Given the description of an element on the screen output the (x, y) to click on. 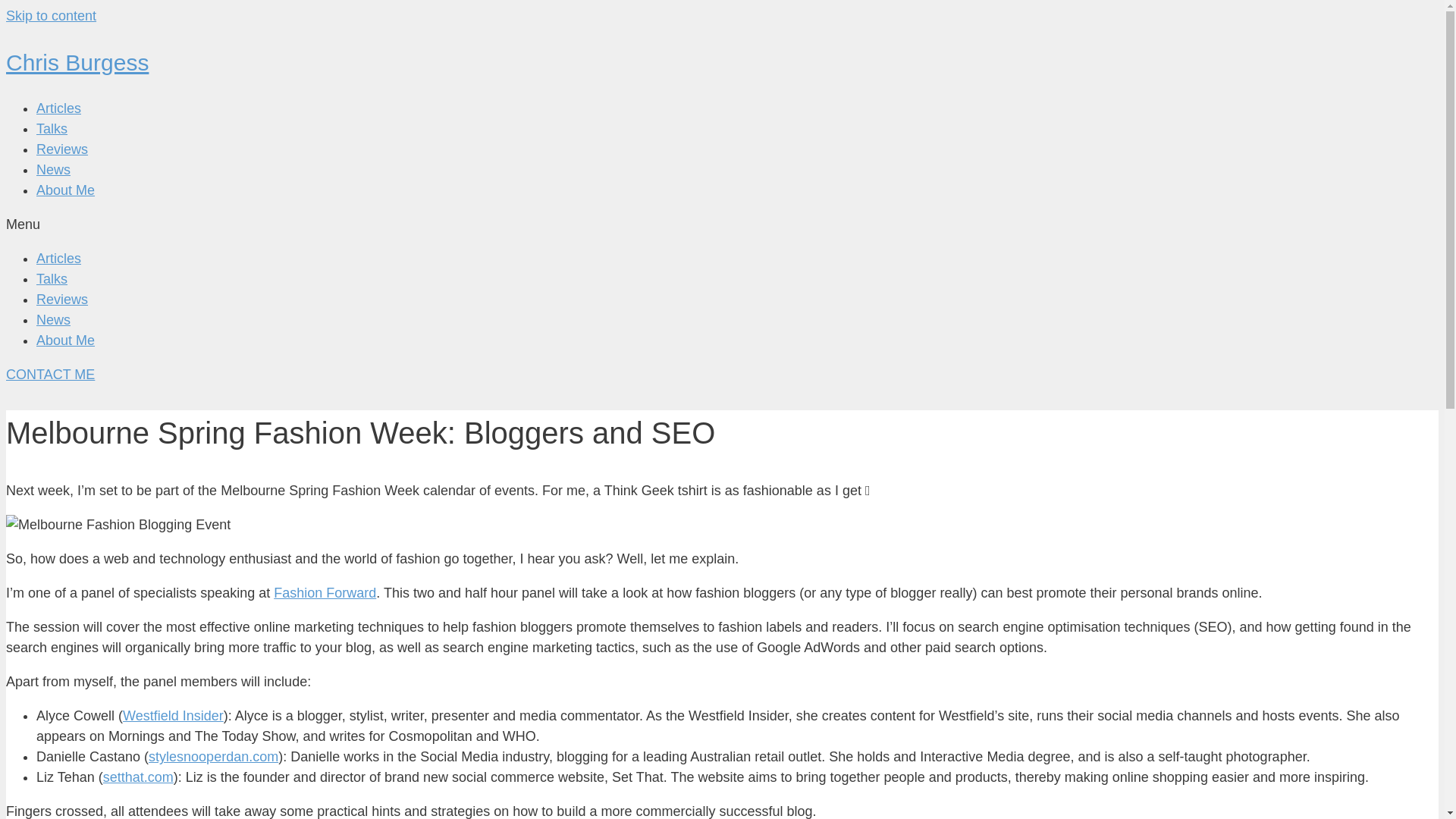
Talks (51, 278)
News (52, 319)
About Me (65, 190)
Articles (58, 108)
Talks (51, 128)
Fashion Forward (324, 592)
Westfield Insider (173, 715)
News (52, 169)
Skip to content (50, 15)
Reviews (61, 299)
